Given the description of an element on the screen output the (x, y) to click on. 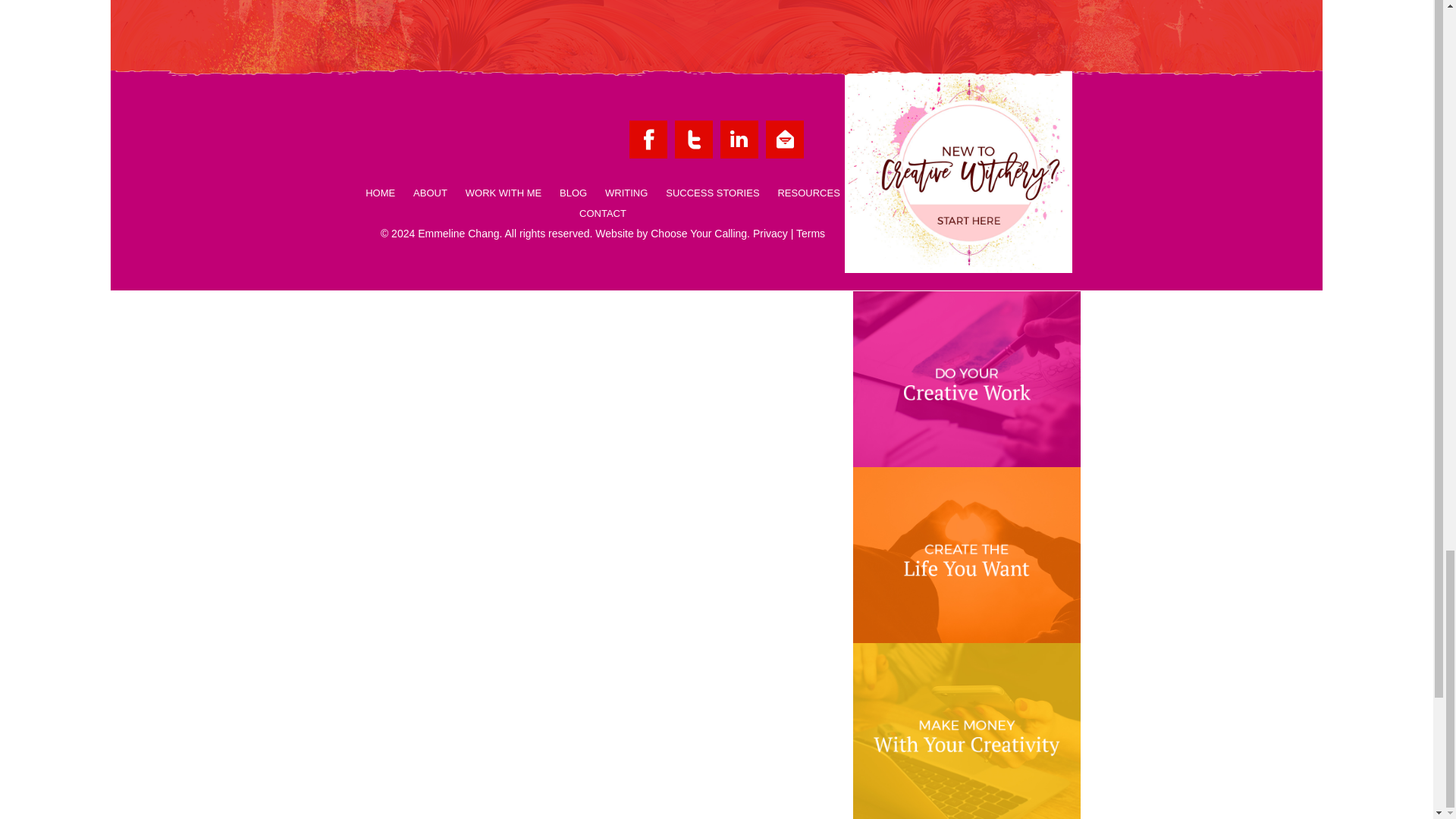
GET YOUR MAGIC! (945, 12)
